Given the description of an element on the screen output the (x, y) to click on. 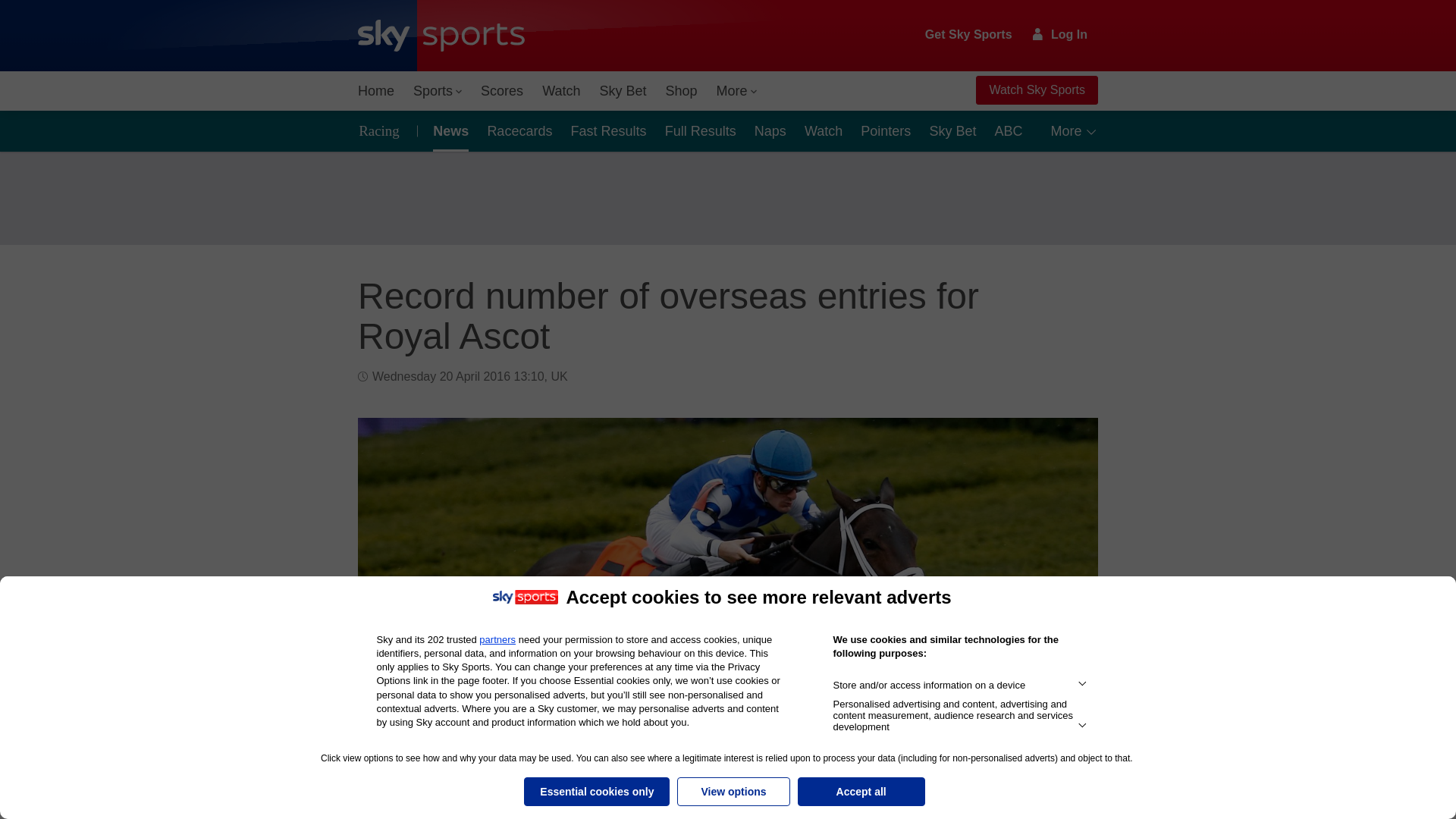
Watch Sky Sports (1036, 90)
Racing (383, 130)
Sports (437, 91)
More (736, 91)
Get Sky Sports (968, 34)
Home (375, 91)
Watch (561, 91)
Sky Bet (622, 91)
Shop (681, 91)
Scores (502, 91)
